Given the description of an element on the screen output the (x, y) to click on. 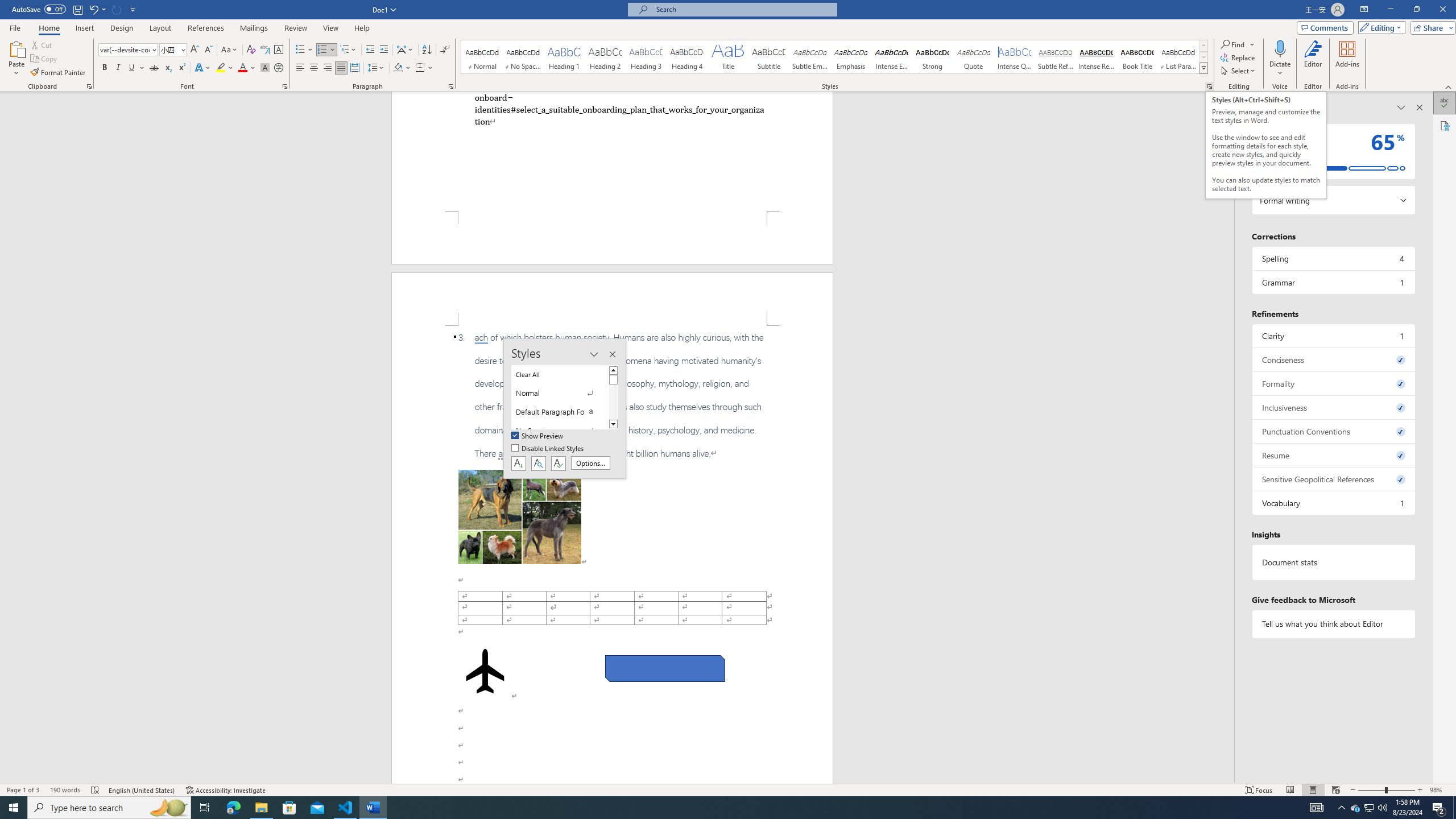
Help (361, 28)
Class: NetUIScrollBar (1229, 437)
Phonetic Guide... (264, 49)
Undo Apply Quick Style (92, 9)
Center (313, 67)
Heading 3 (646, 56)
Book Title (1136, 56)
Numbering (326, 49)
Font Size (172, 49)
Class: NetUIImage (1204, 68)
AutoSave (38, 9)
Replace... (1237, 56)
Options... (590, 463)
Text Highlight Color Yellow (220, 67)
